Given the description of an element on the screen output the (x, y) to click on. 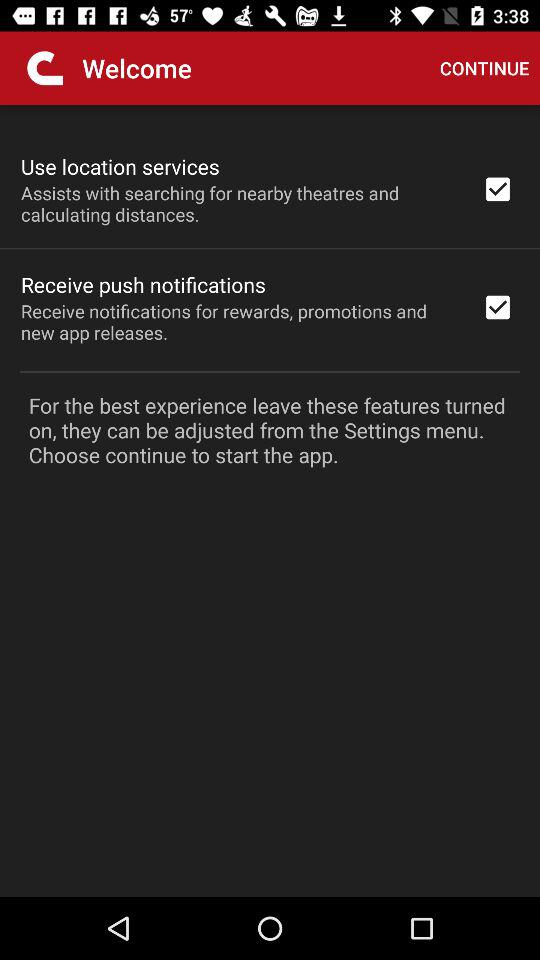
turn on icon above assists with searching item (120, 166)
